Given the description of an element on the screen output the (x, y) to click on. 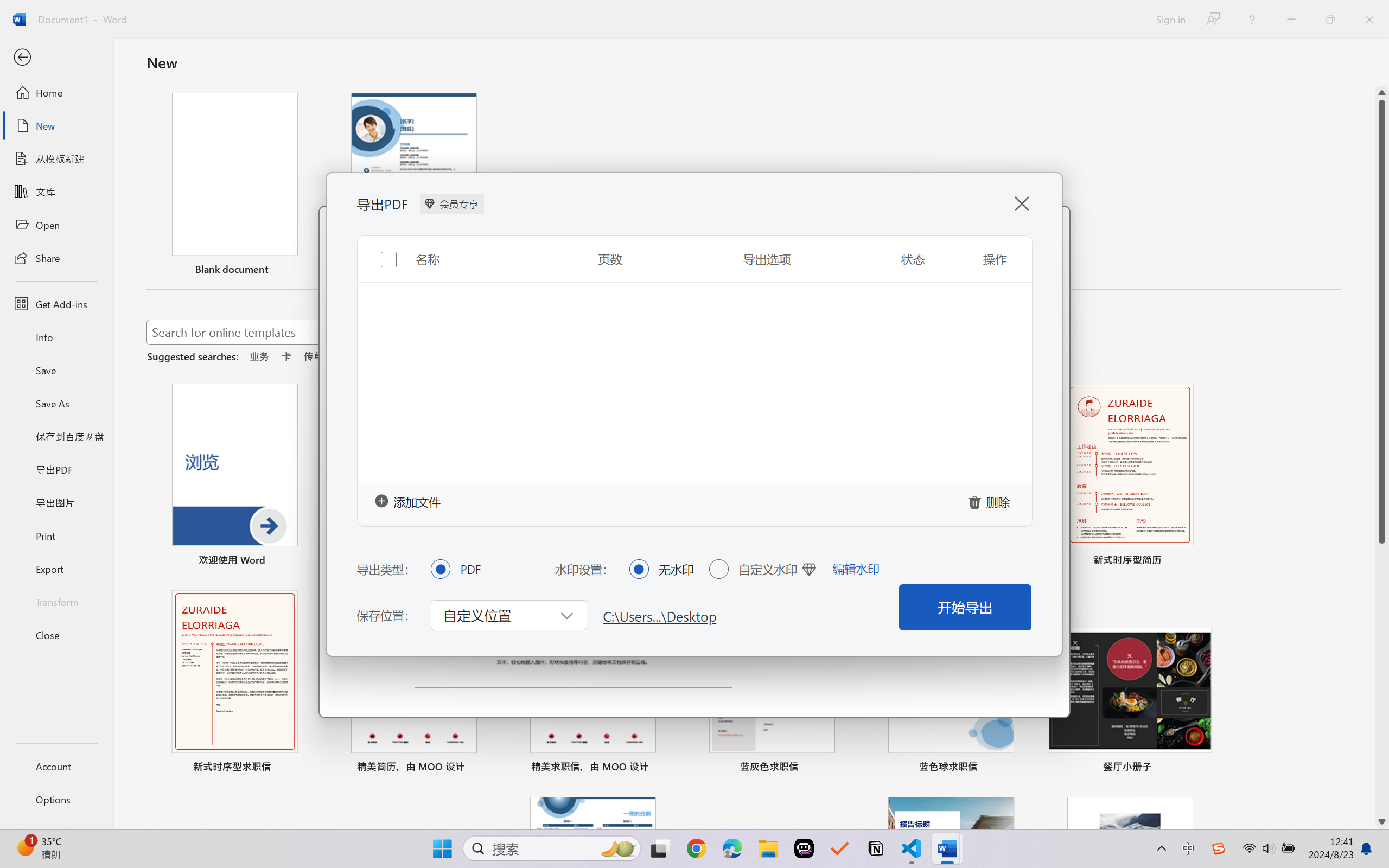
Back (56, 57)
Line up (1382, 92)
Get Add-ins (56, 303)
Account (56, 765)
